Given the description of an element on the screen output the (x, y) to click on. 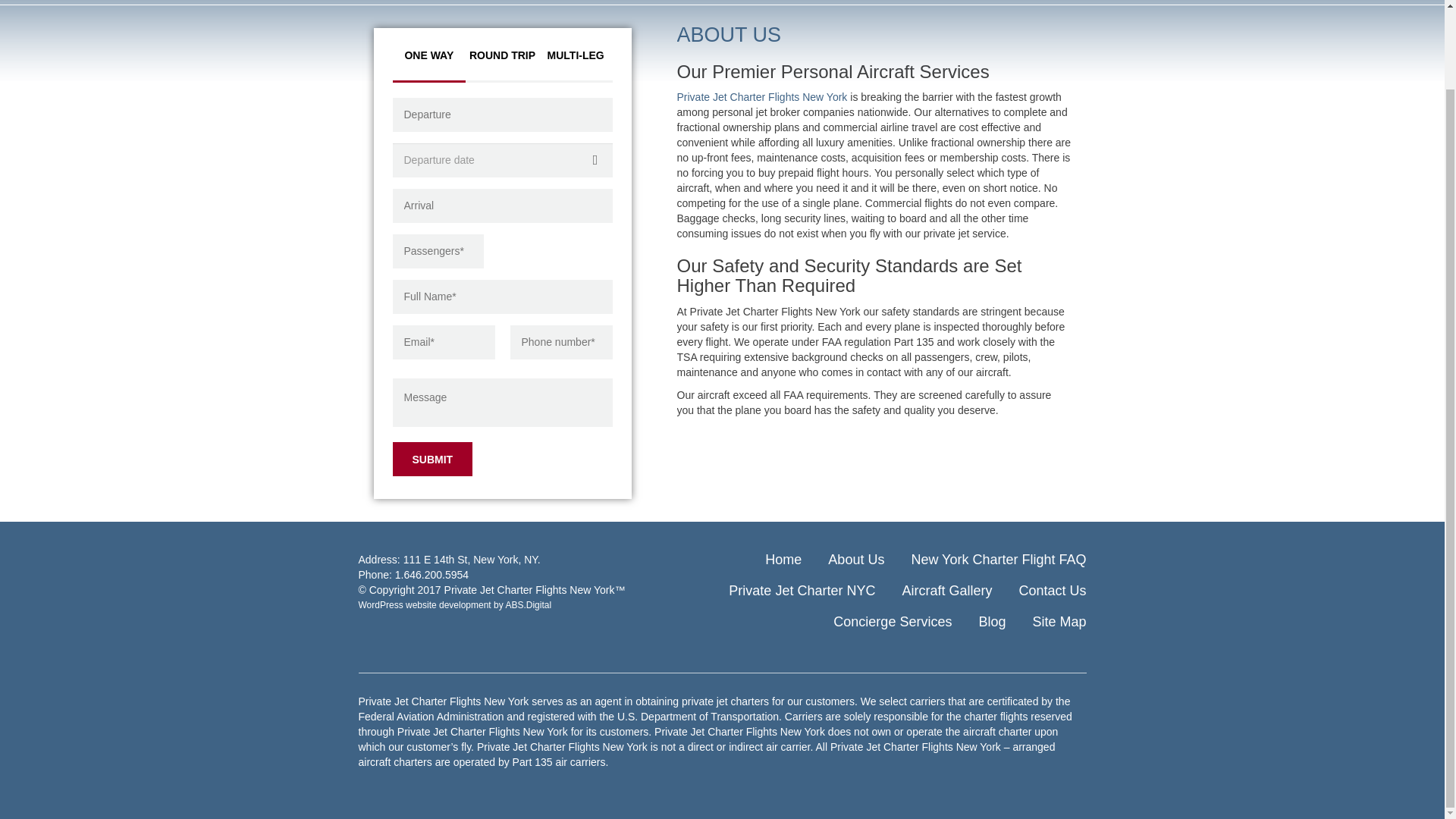
Aircraft Gallery (946, 590)
1.646.200.5954 (431, 574)
Contact Us (1051, 590)
MULTI-LEG (575, 54)
New York Charter Flight FAQ (998, 559)
ABS.Digital (528, 604)
Blog (992, 621)
ROUND TRIP (501, 54)
Jet Charter New York (763, 96)
Private Jet Charter NYC (802, 590)
